Given the description of an element on the screen output the (x, y) to click on. 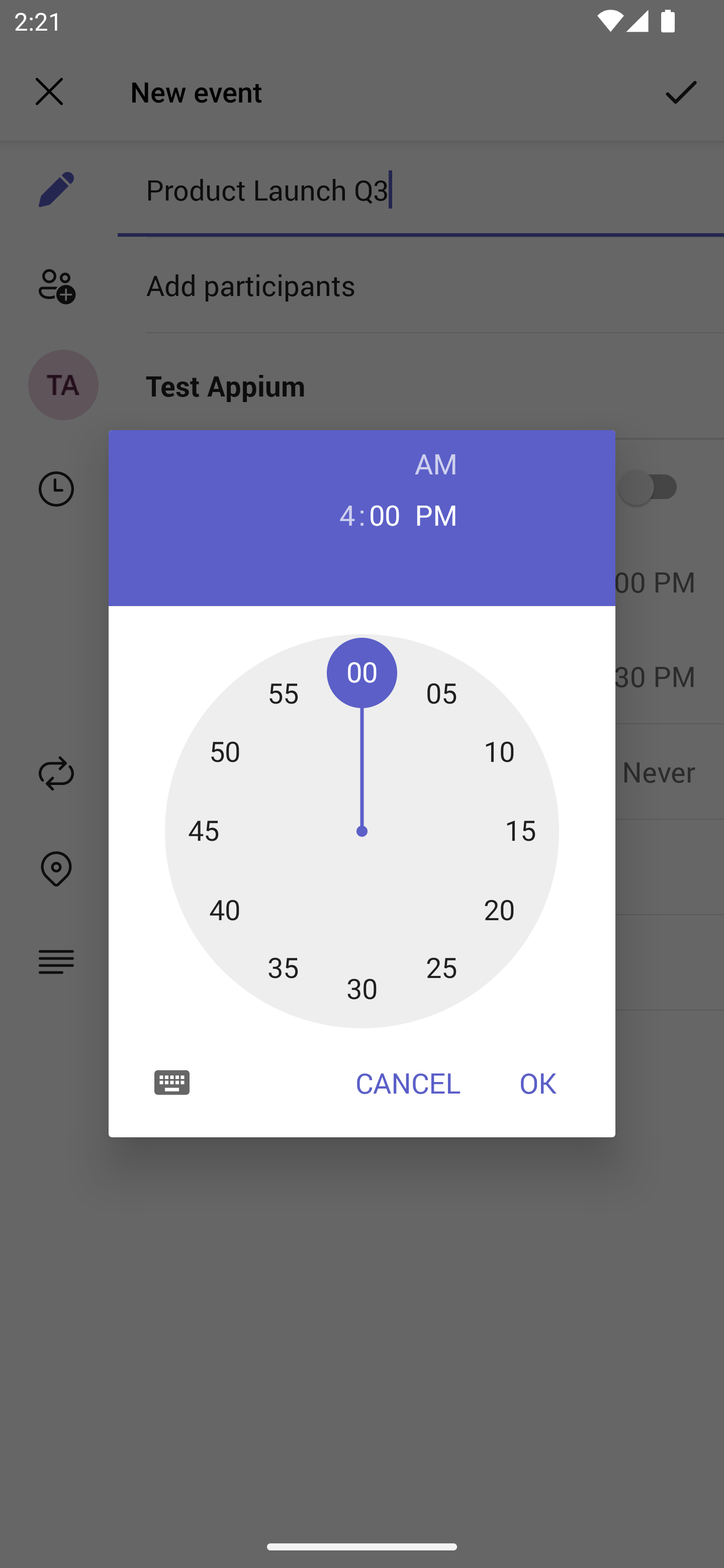
AM (435, 463)
PM (435, 514)
4 (338, 514)
00 (384, 514)
CANCEL (407, 1082)
OK (537, 1082)
Switch to text input mode for the time input. (171, 1081)
